Given the description of an element on the screen output the (x, y) to click on. 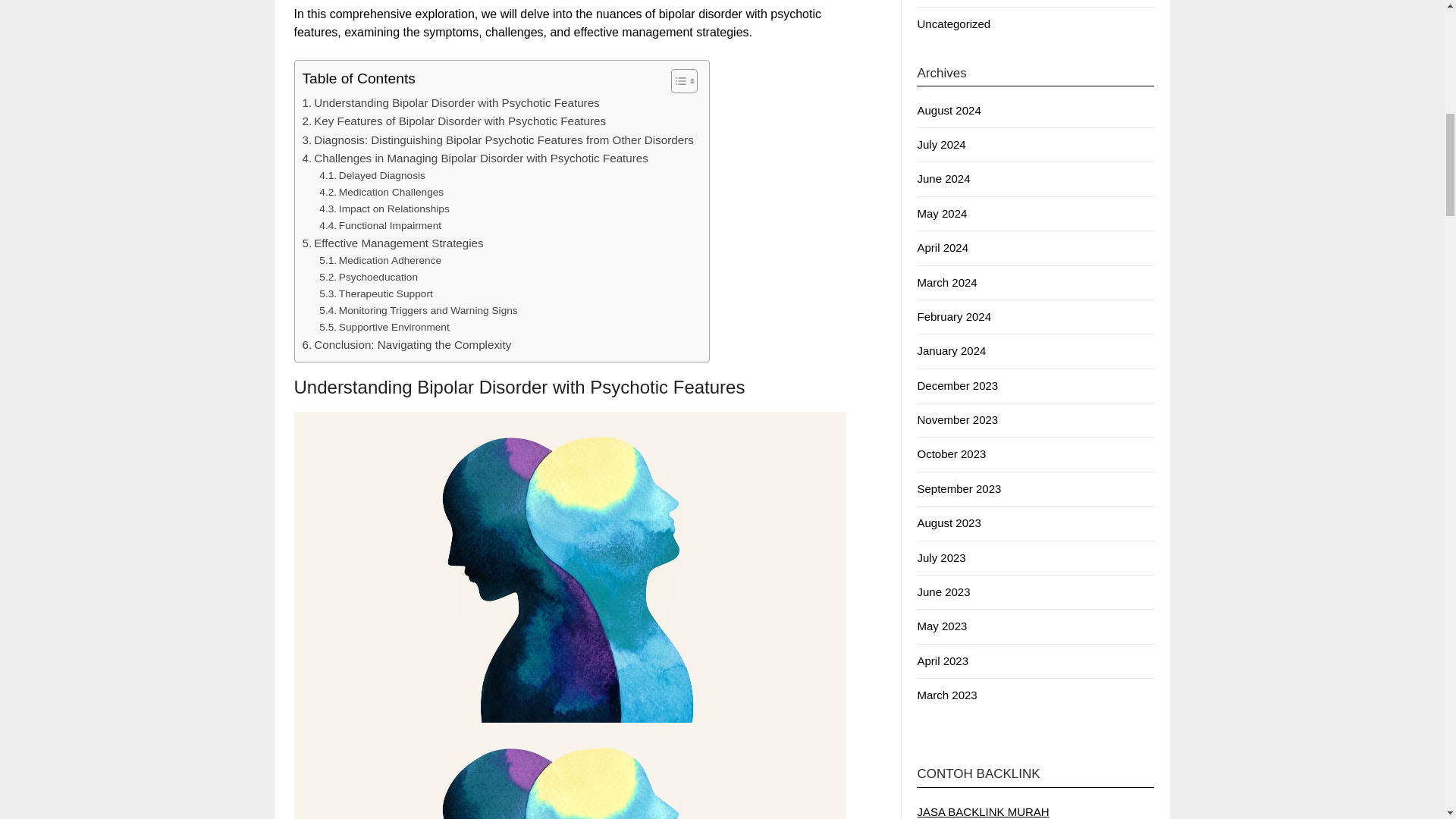
Delayed Diagnosis (371, 175)
Effective Management Strategies (392, 243)
Therapeutic Support (375, 293)
Conclusion: Navigating the Complexity (406, 344)
Delayed Diagnosis (371, 175)
Supportive Environment (383, 327)
Medication Challenges (381, 192)
Impact on Relationships (383, 208)
